Given the description of an element on the screen output the (x, y) to click on. 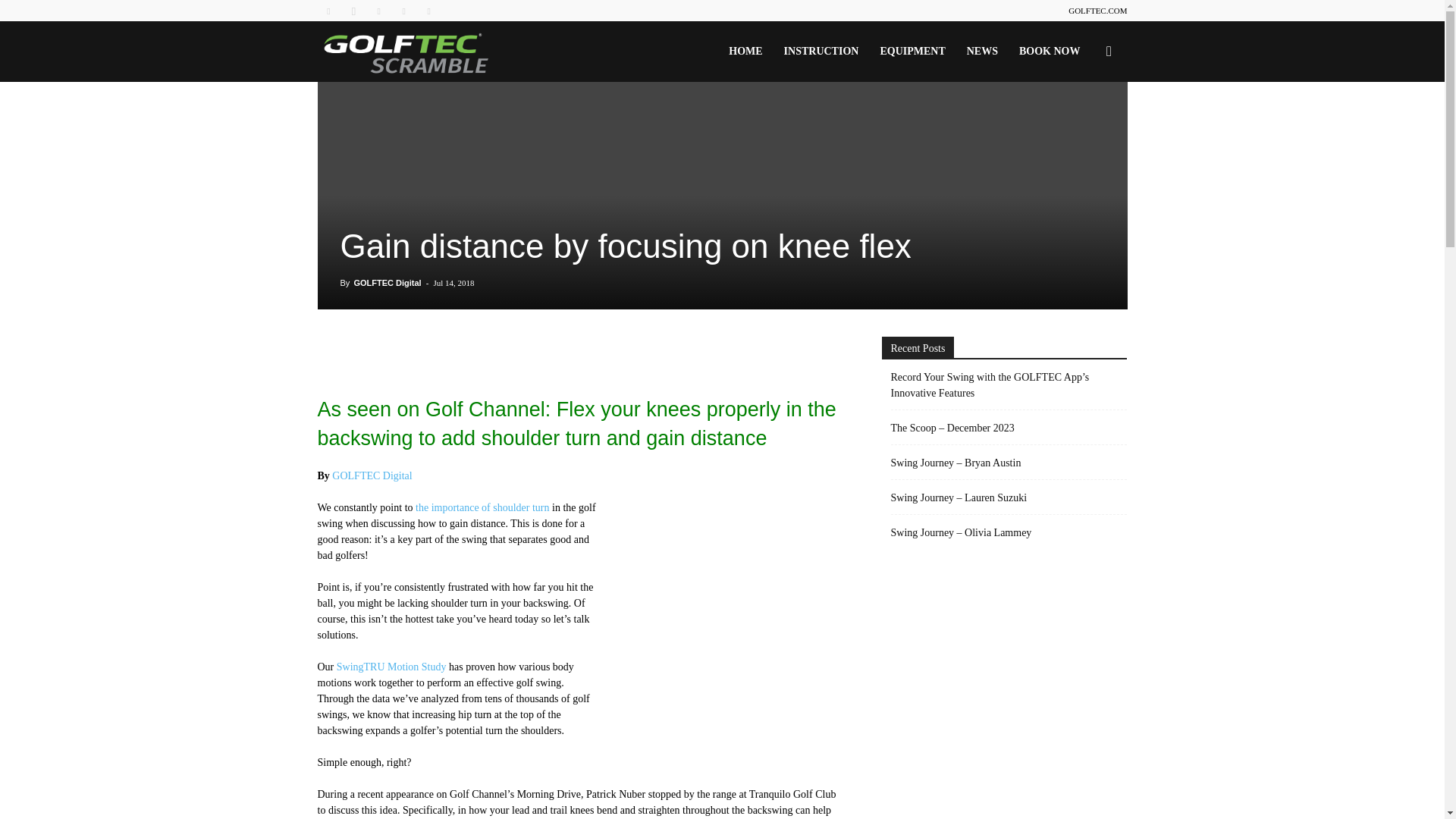
Twitter (403, 10)
Facebook (328, 10)
Instagram (353, 10)
Youtube (429, 10)
GOLFTEC.COM (1097, 10)
Linkedin (379, 10)
